Given the description of an element on the screen output the (x, y) to click on. 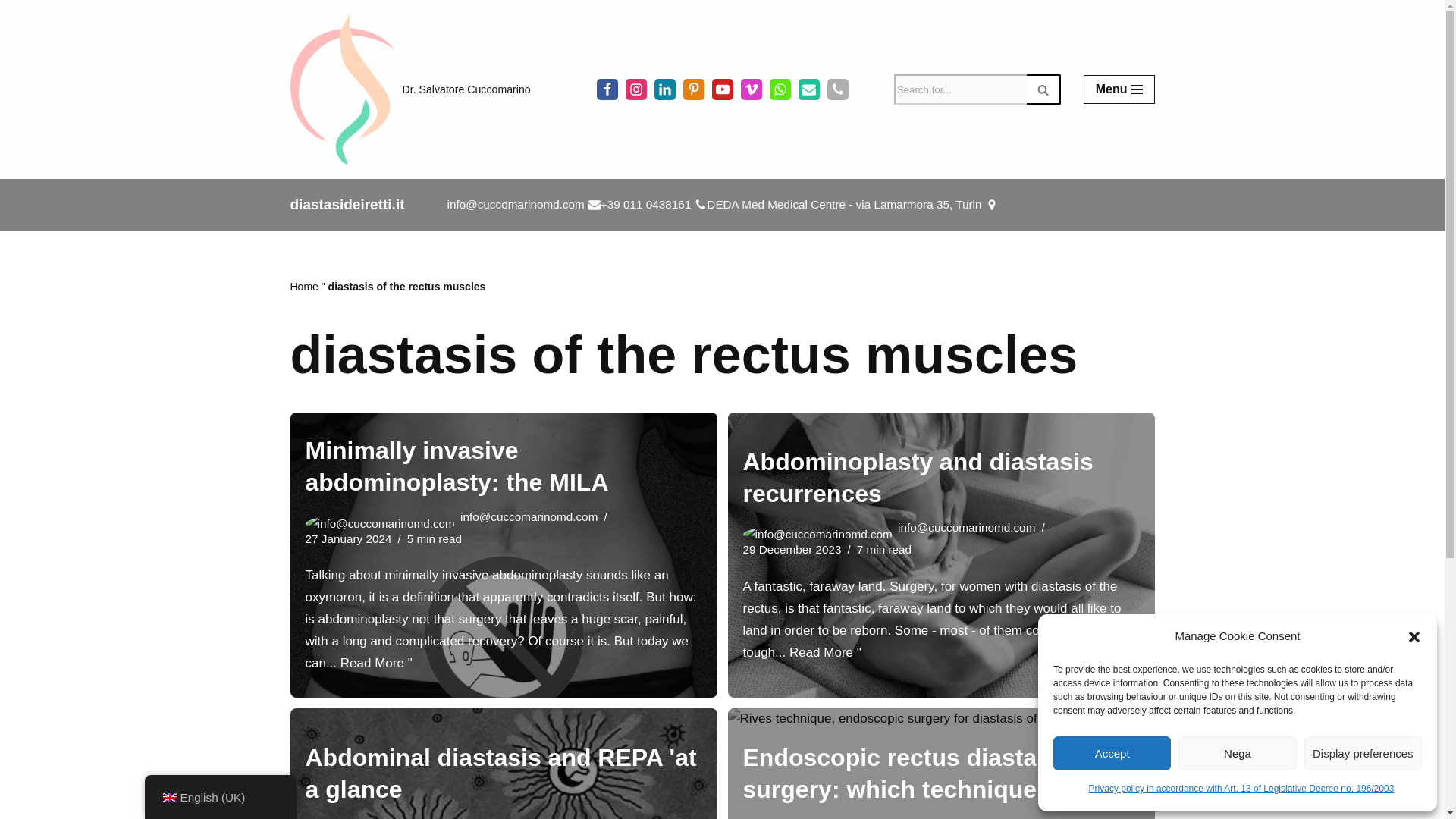
diastasideiretti.it (346, 204)
Vimeo (750, 88)
Nega (1236, 753)
Facebook (606, 88)
Email (807, 88)
Dr. Salvatore Cuccomarino (409, 89)
Home (303, 286)
Accept (1111, 753)
Skip to content (11, 31)
Phone (837, 88)
